Given the description of an element on the screen output the (x, y) to click on. 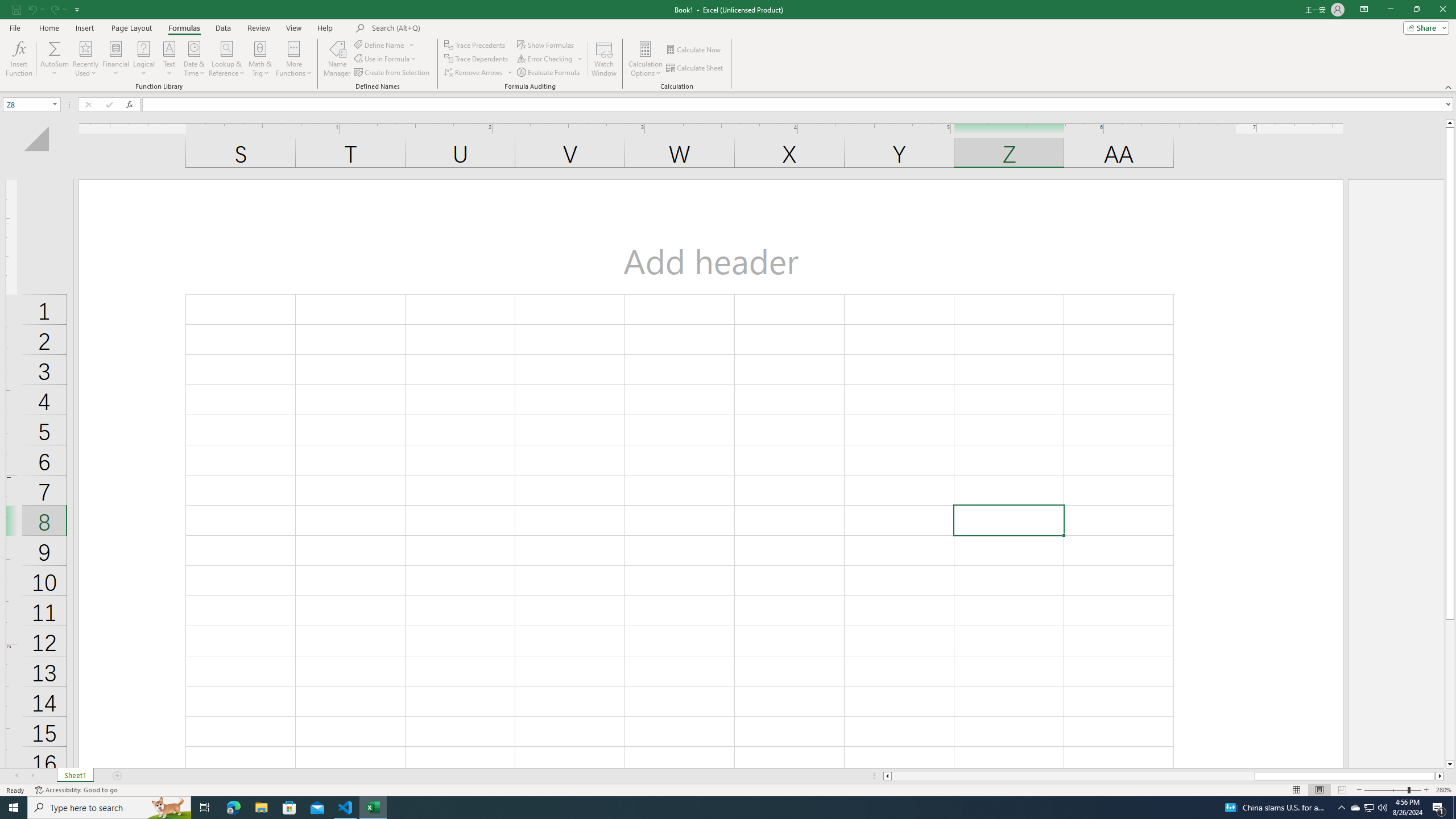
More Functions (294, 58)
Trace Precedents (475, 44)
Remove Arrows (478, 72)
Calculate Sheet (694, 67)
Trace Dependents (477, 58)
